Given the description of an element on the screen output the (x, y) to click on. 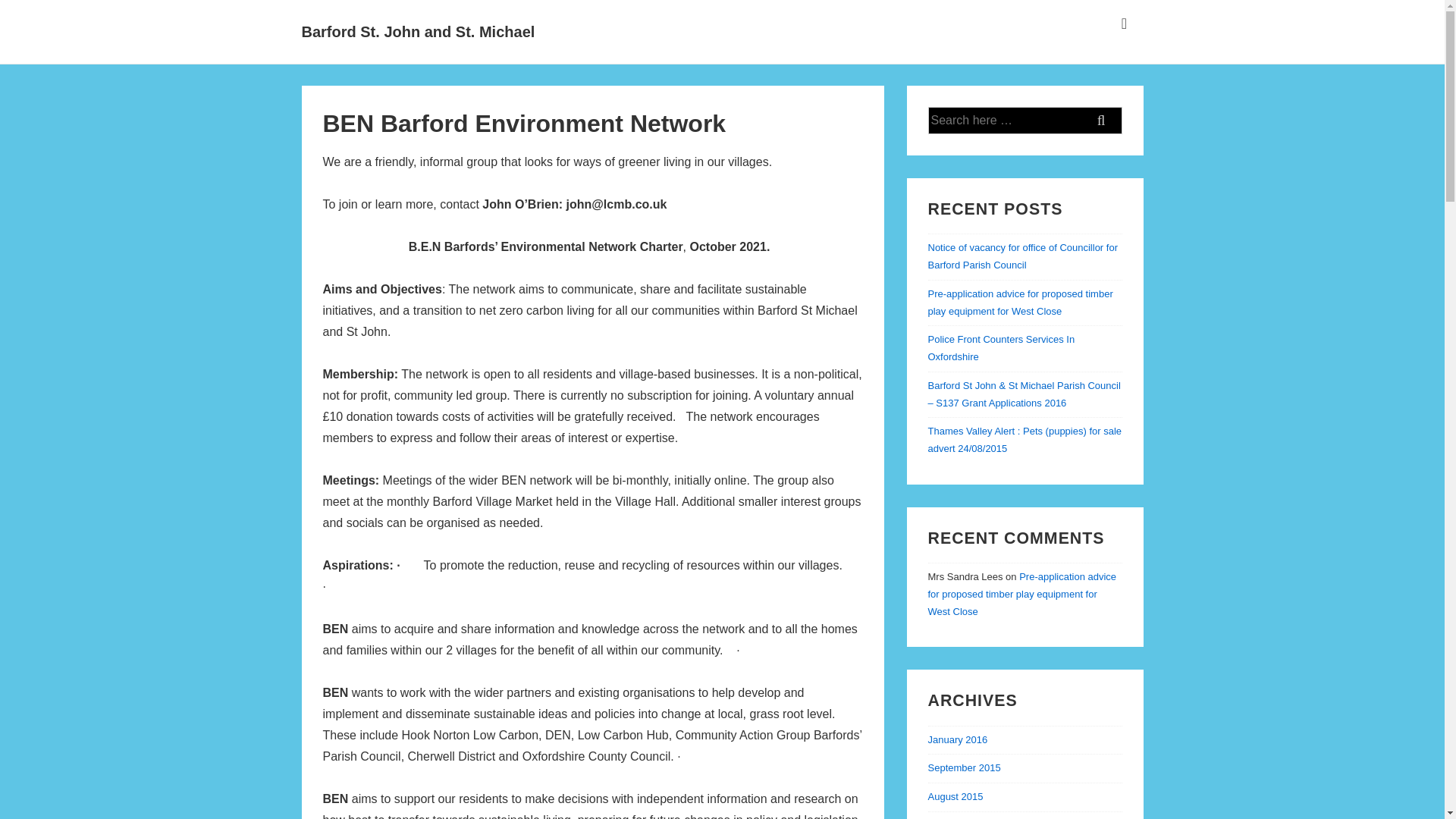
MENU (1123, 23)
Barford St. John and St. Michael (418, 31)
